Given the description of an element on the screen output the (x, y) to click on. 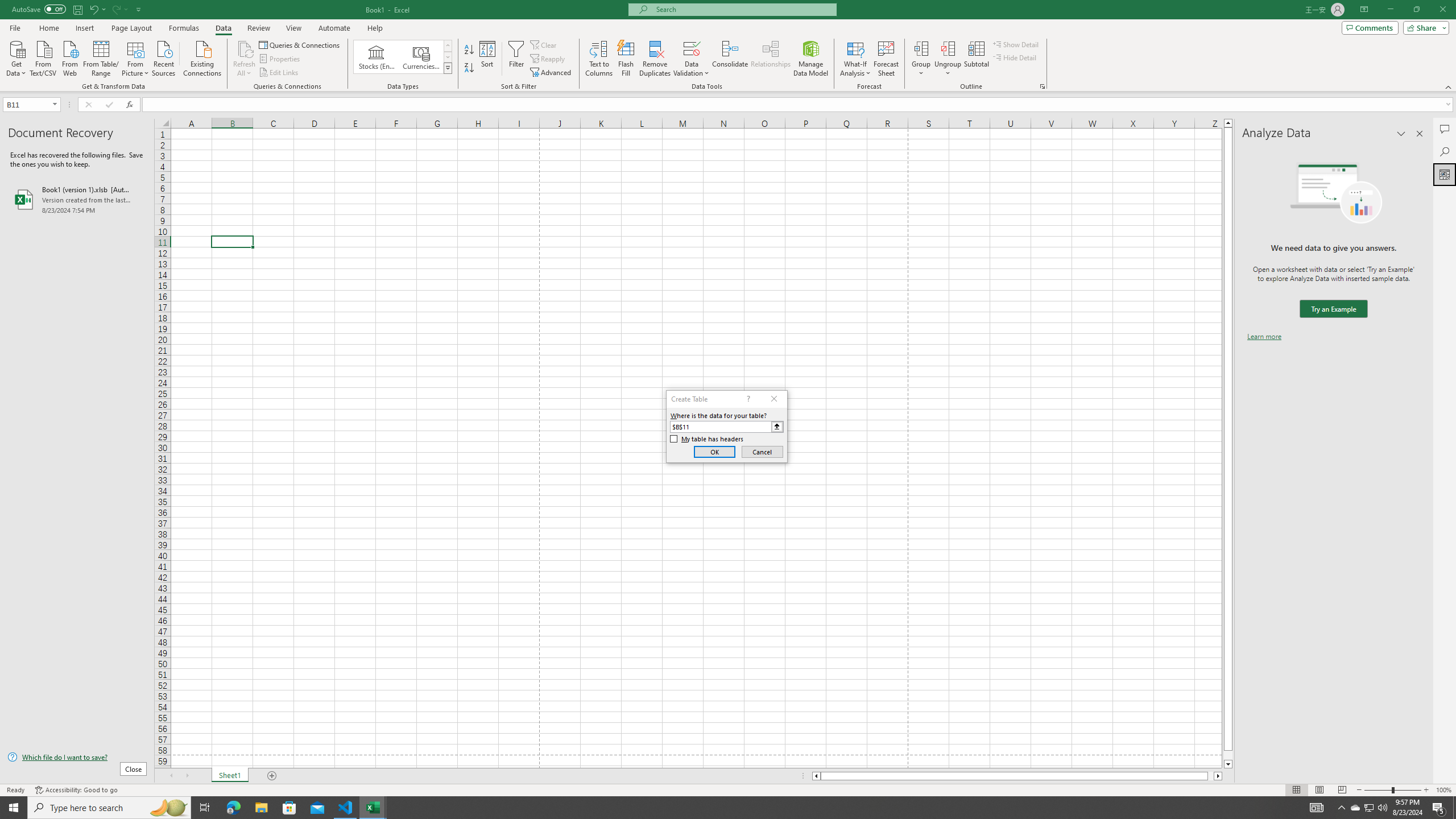
Consolidate... (729, 58)
